Given the description of an element on the screen output the (x, y) to click on. 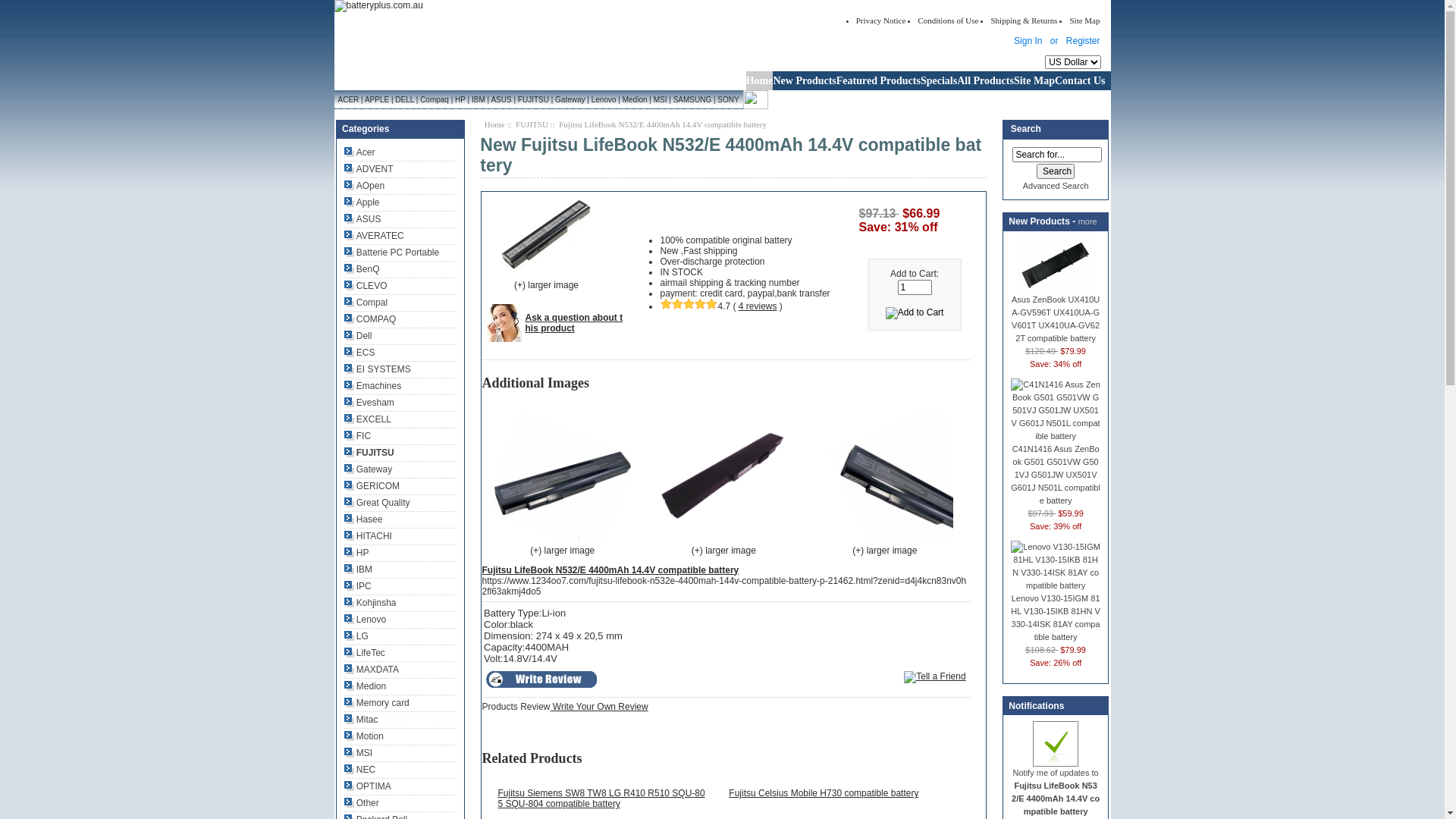
OPTIMA Element type: text (367, 786)
 Write Review  Element type: hover (541, 679)
Contact Us   Element type: text (1082, 80)
 SAMSUNG  Element type: text (692, 99)
Register Element type: text (1082, 40)
 Medion  Element type: text (634, 99)
EI SYSTEMS Element type: text (377, 369)
EXCELL Element type: text (367, 419)
Kohjinsha Element type: text (370, 602)
Lenovo Element type: text (364, 619)
Site Map Element type: text (1084, 20)
Home Element type: text (494, 123)
IPC Element type: text (357, 585)
AOpen Element type: text (364, 185)
Specials Element type: text (938, 80)
 SONY   Element type: text (729, 99)
Emachines Element type: text (372, 385)
COMPAQ Element type: text (369, 318)
 Gateway  Element type: text (569, 99)
4 reviews Element type: text (757, 306)
CLEVO Element type: text (365, 285)
New Products Element type: text (803, 80)
 Fujitsu LifeBook N532/E 4400mAh 14.4V compatible battery  Element type: hover (884, 476)
Gateway Element type: text (368, 469)
 HP  Element type: text (459, 99)
FUJITSU Element type: text (531, 123)
 APPLE  Element type: text (377, 99)
 Tell a Friend  Element type: hover (934, 677)
Ask a question about this product Element type: text (573, 322)
Batterie PC Portable Element type: text (391, 252)
MSI Element type: text (358, 752)
Home Element type: text (759, 80)
Sign In Element type: text (1027, 40)
 batteryplus.com.au  Element type: hover (377, 6)
Fujitsu LifeBook N532/E 4400mAh 14.4V compatible battery Element type: text (609, 569)
Write Your Own Review Element type: text (599, 706)
NEC Element type: text (359, 769)
GERICOM Element type: text (371, 485)
Site Map Element type: text (1033, 80)
Evesham Element type: text (369, 402)
 Fujitsu LifeBook N532/E 4400mAh 14.4V compatible battery  Element type: hover (723, 476)
Motion Element type: text (363, 736)
HP Element type: text (356, 552)
AVERATEC Element type: text (374, 235)
 ASUS  Element type: text (501, 99)
(+) larger image Element type: text (558, 290)
FUJITSU Element type: text (369, 452)
FIC Element type: text (357, 435)
 Lenovo  Element type: text (603, 99)
ECS Element type: text (359, 352)
 DELL  Element type: text (404, 99)
Advanced Search Element type: text (1055, 185)
more Element type: text (1087, 220)
Compal Element type: text (365, 302)
(+) larger image Element type: text (723, 545)
Mitac Element type: text (361, 719)
ADVENT Element type: text (368, 168)
 Fujitsu LifeBook N532/E 4400mAh 14.4V compatible battery  Element type: hover (562, 476)
 Fujitsu LifeBook N532/E 4400mAh 14.4V compatible battery  Element type: hover (545, 234)
BenQ Element type: text (361, 268)
Conditions of Use Element type: text (947, 20)
Privacy Notice Element type: text (881, 20)
  ACER  Element type: text (346, 99)
Memory card Element type: text (376, 702)
Shipping & Returns Element type: text (1023, 20)
Hasee Element type: text (363, 519)
(+) larger image Element type: text (562, 545)
 IBM  Element type: text (477, 99)
ASUS Element type: text (362, 218)
Acer Element type: text (359, 152)
 Compaq  Element type: text (433, 99)
Great Quality Element type: text (377, 502)
Fujitsu Celsius Mobile H730 compatible battery Element type: text (823, 792)
Medion Element type: text (364, 685)
 Notify me of updates to this product.  Element type: hover (1055, 743)
Apple Element type: text (361, 202)
LG Element type: text (356, 635)
All Products Element type: text (985, 80)
 MSI  Element type: text (659, 99)
LifeTec Element type: text (364, 652)
IBM Element type: text (358, 569)
Other Element type: text (361, 802)
HITACHI Element type: text (368, 535)
Dell Element type: text (358, 335)
MAXDATA Element type: text (371, 669)
 FUJITSU  Element type: text (533, 99)
Featured Products Element type: text (878, 80)
 Add to Cart  Element type: hover (914, 313)
Search Element type: text (1055, 170)
(+) larger image Element type: text (884, 545)
